Given the description of an element on the screen output the (x, y) to click on. 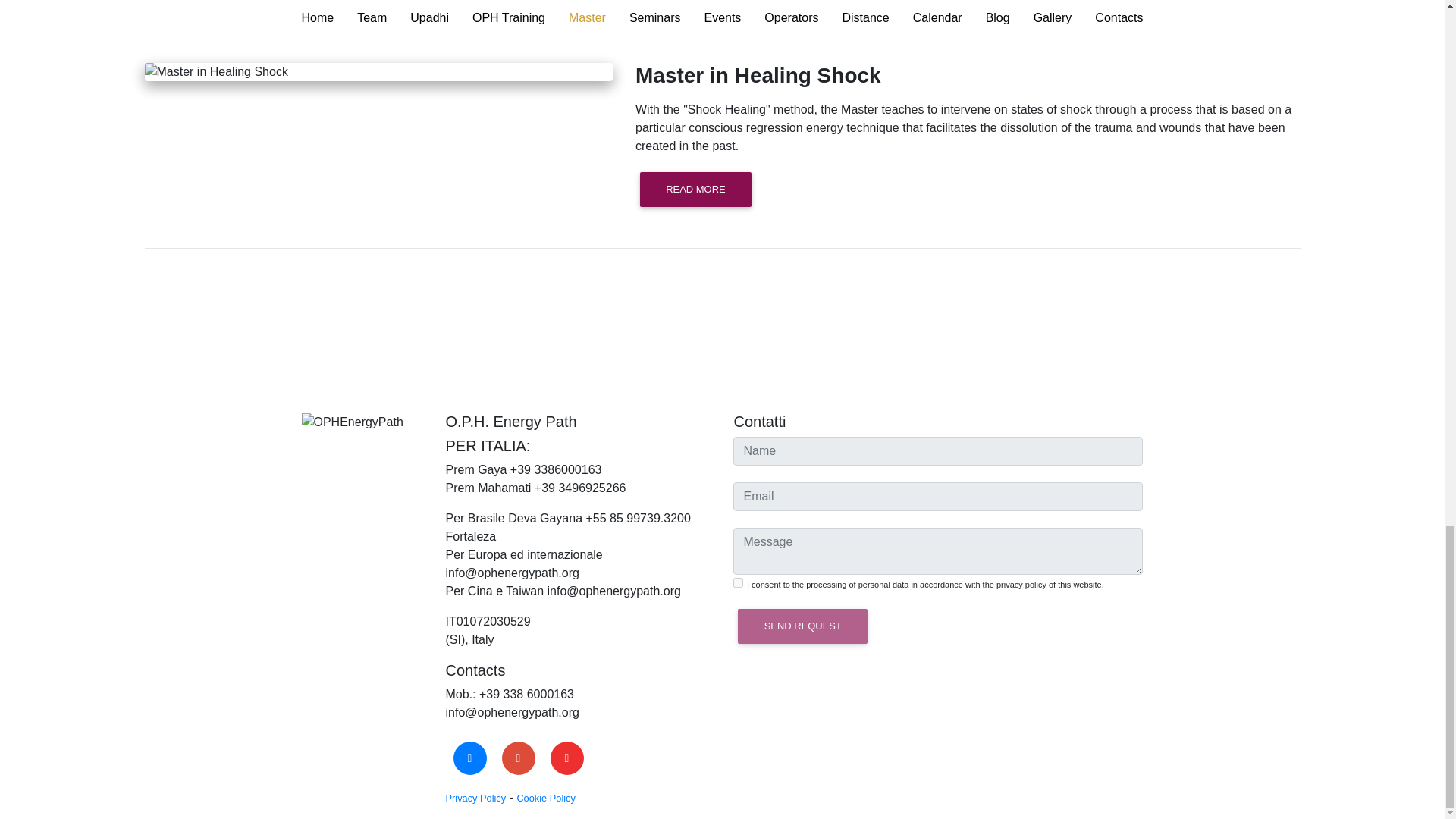
READ MORE (695, 189)
1 (737, 583)
Send Request (802, 626)
Privacy Policy (475, 797)
Send Request (802, 626)
Cookie Policy (545, 797)
